Given the description of an element on the screen output the (x, y) to click on. 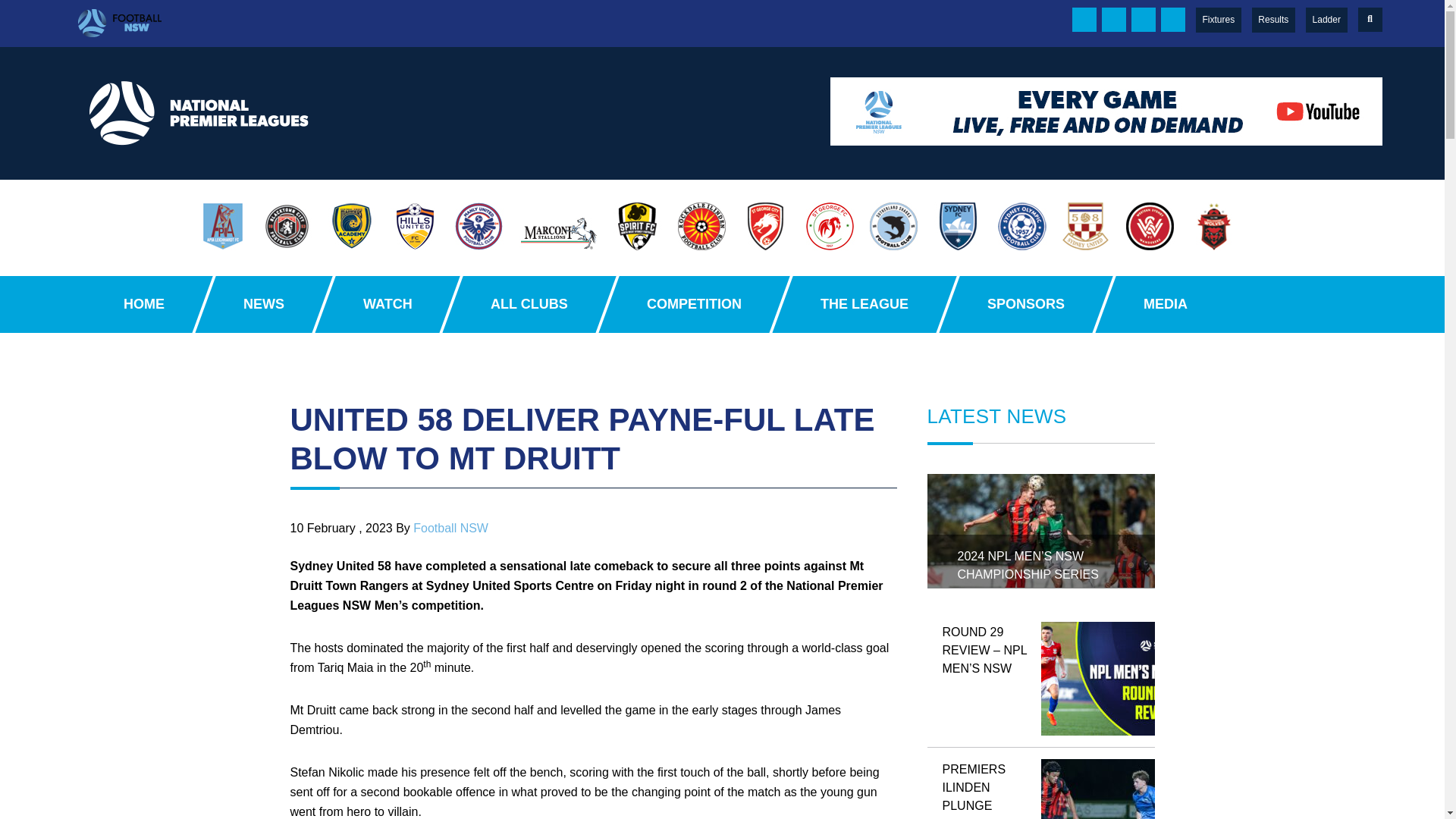
Football NSW (119, 24)
Results (1273, 19)
Football NSW (460, 24)
Fixtures (1218, 19)
Ladder (1326, 19)
NPL Men's NSW (1286, 19)
